Given the description of an element on the screen output the (x, y) to click on. 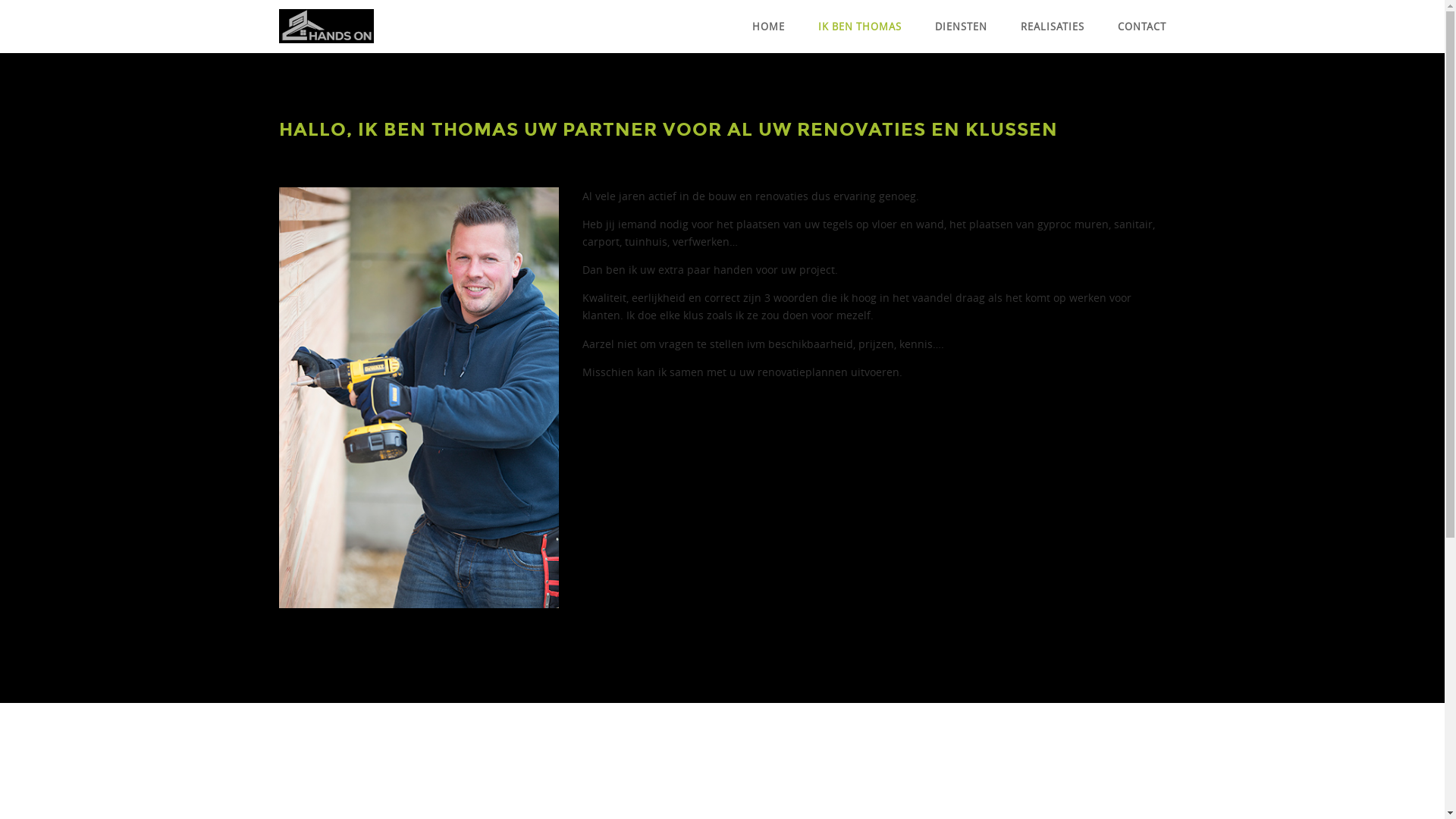
CONTACT Element type: text (1141, 26)
REALISATIES Element type: text (1052, 26)
DIENSTEN Element type: text (960, 26)
IK BEN THOMAS Element type: text (858, 26)
HOME Element type: text (768, 26)
